Given the description of an element on the screen output the (x, y) to click on. 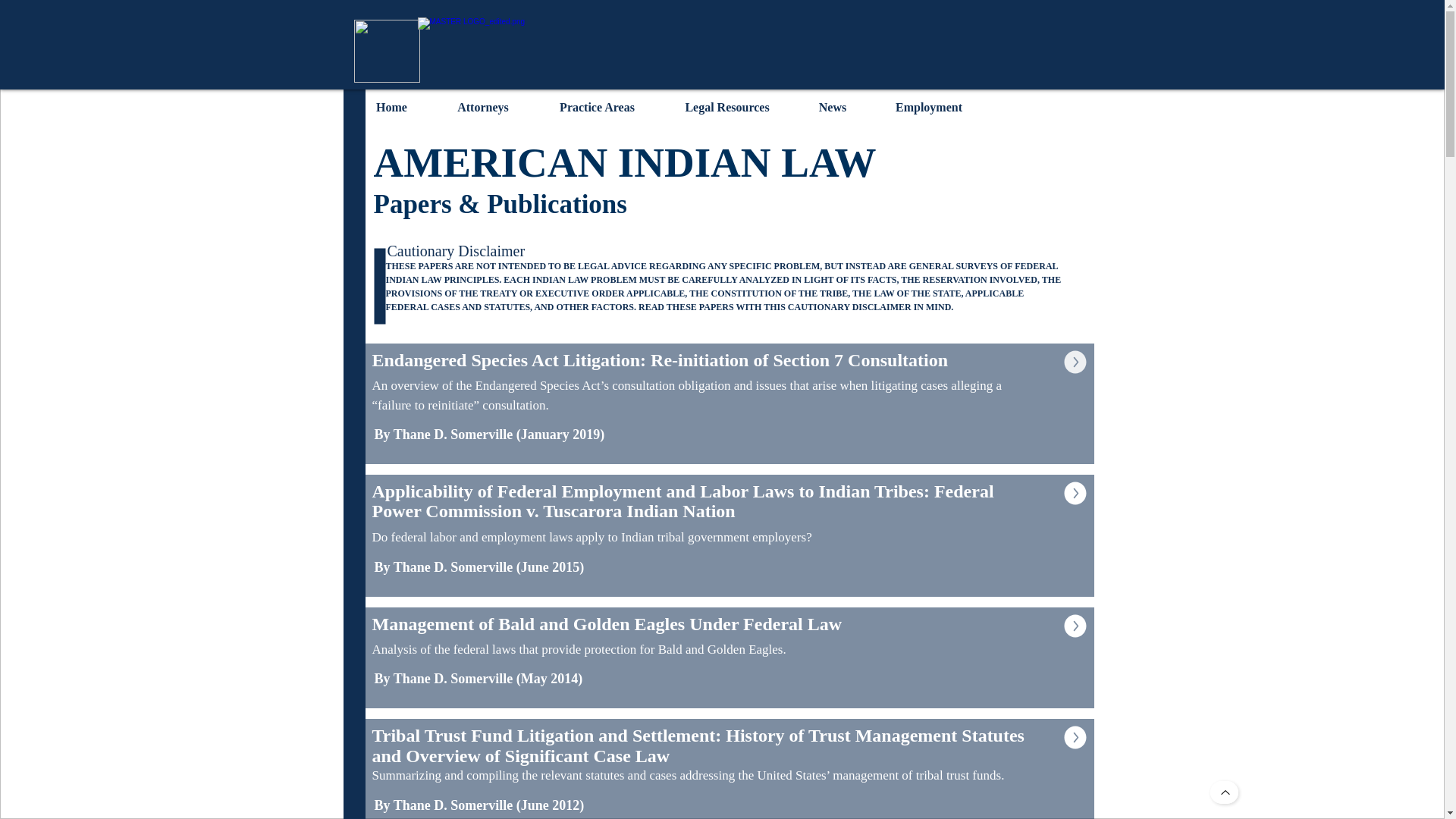
Practice Areas (597, 106)
Home (391, 106)
MASTER LOGO.png (727, 51)
